Given the description of an element on the screen output the (x, y) to click on. 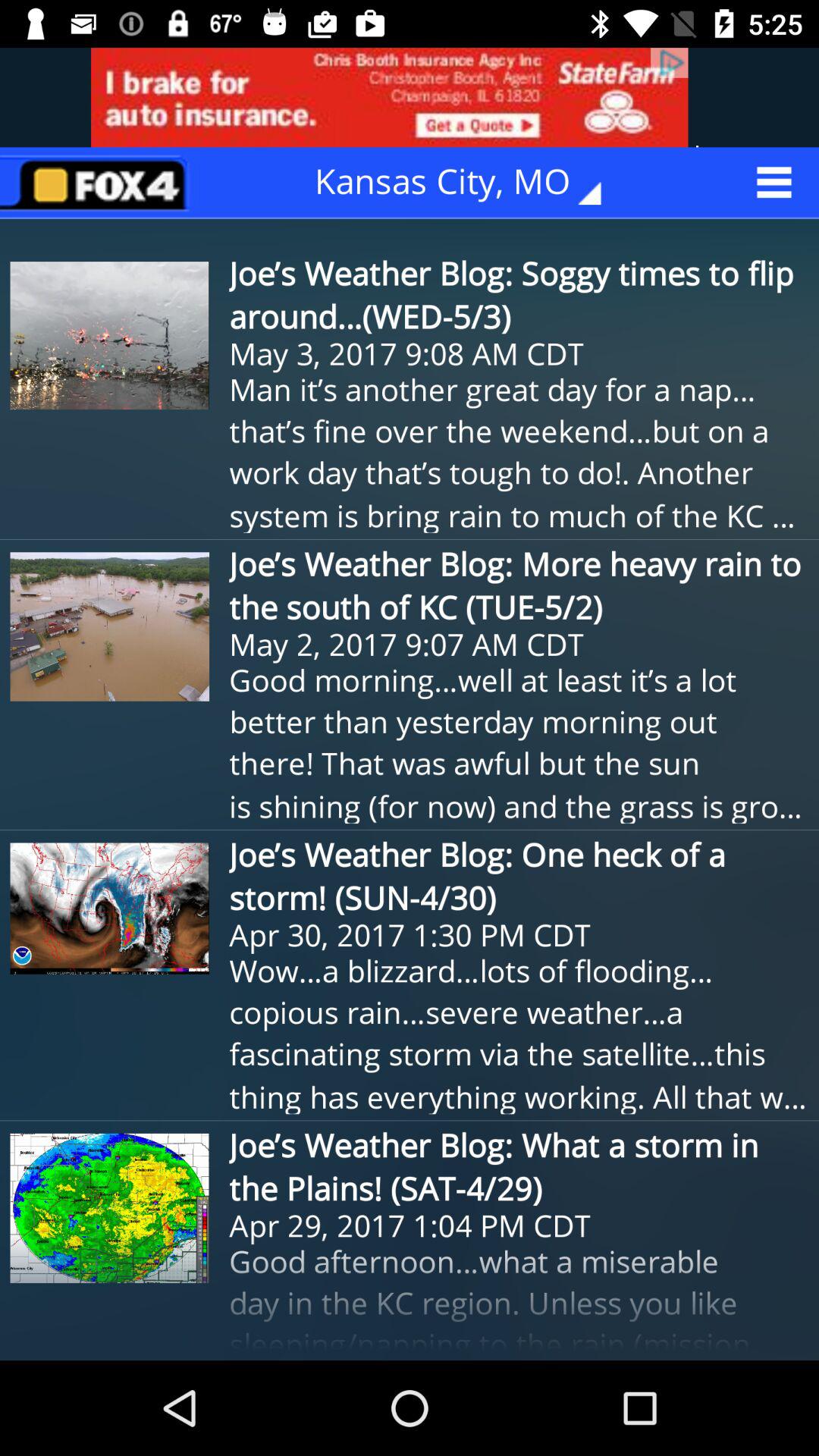
search (99, 182)
